Given the description of an element on the screen output the (x, y) to click on. 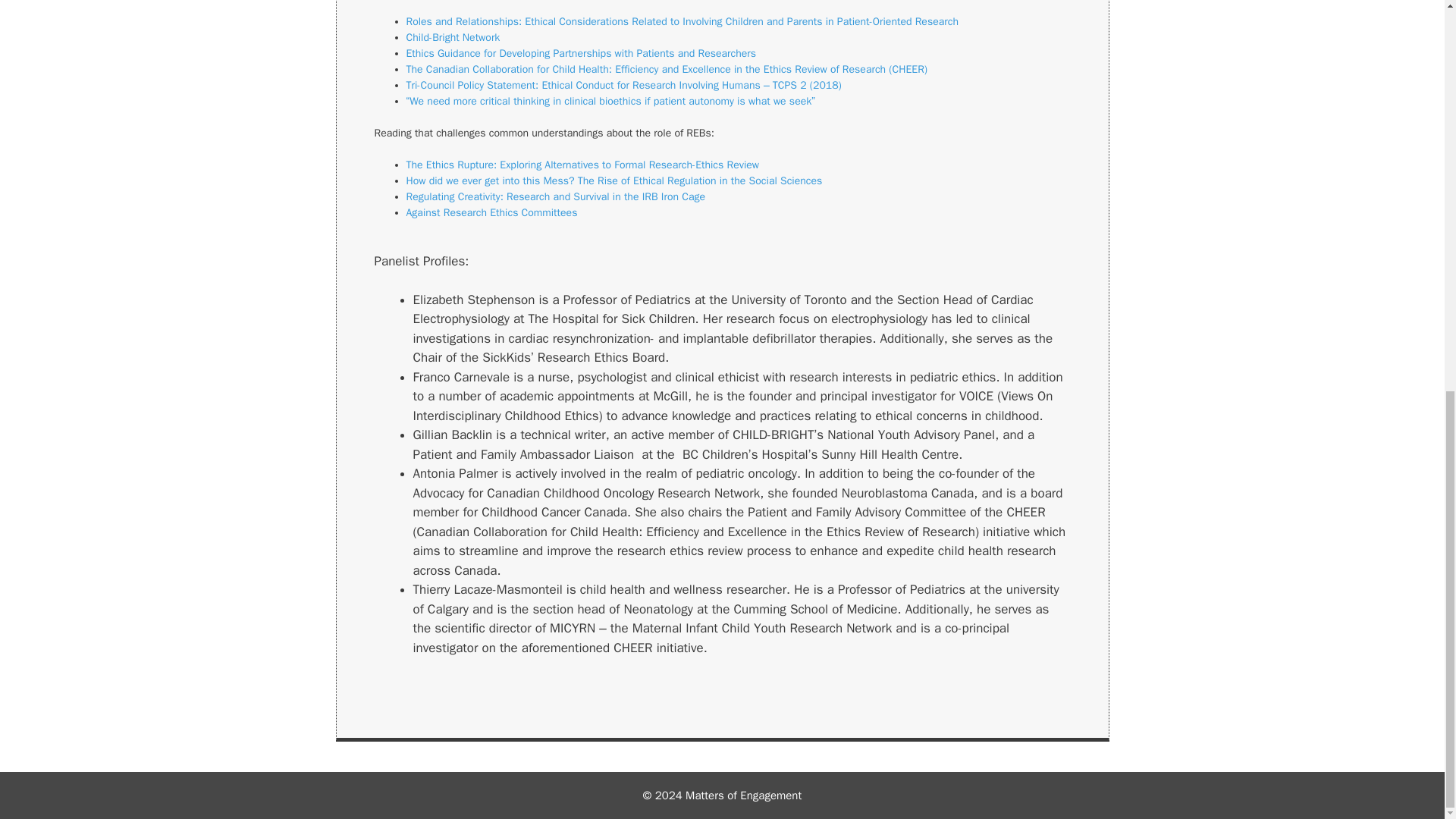
Against Research Ethics Committees (492, 212)
Child-Bright Network (453, 37)
